Given the description of an element on the screen output the (x, y) to click on. 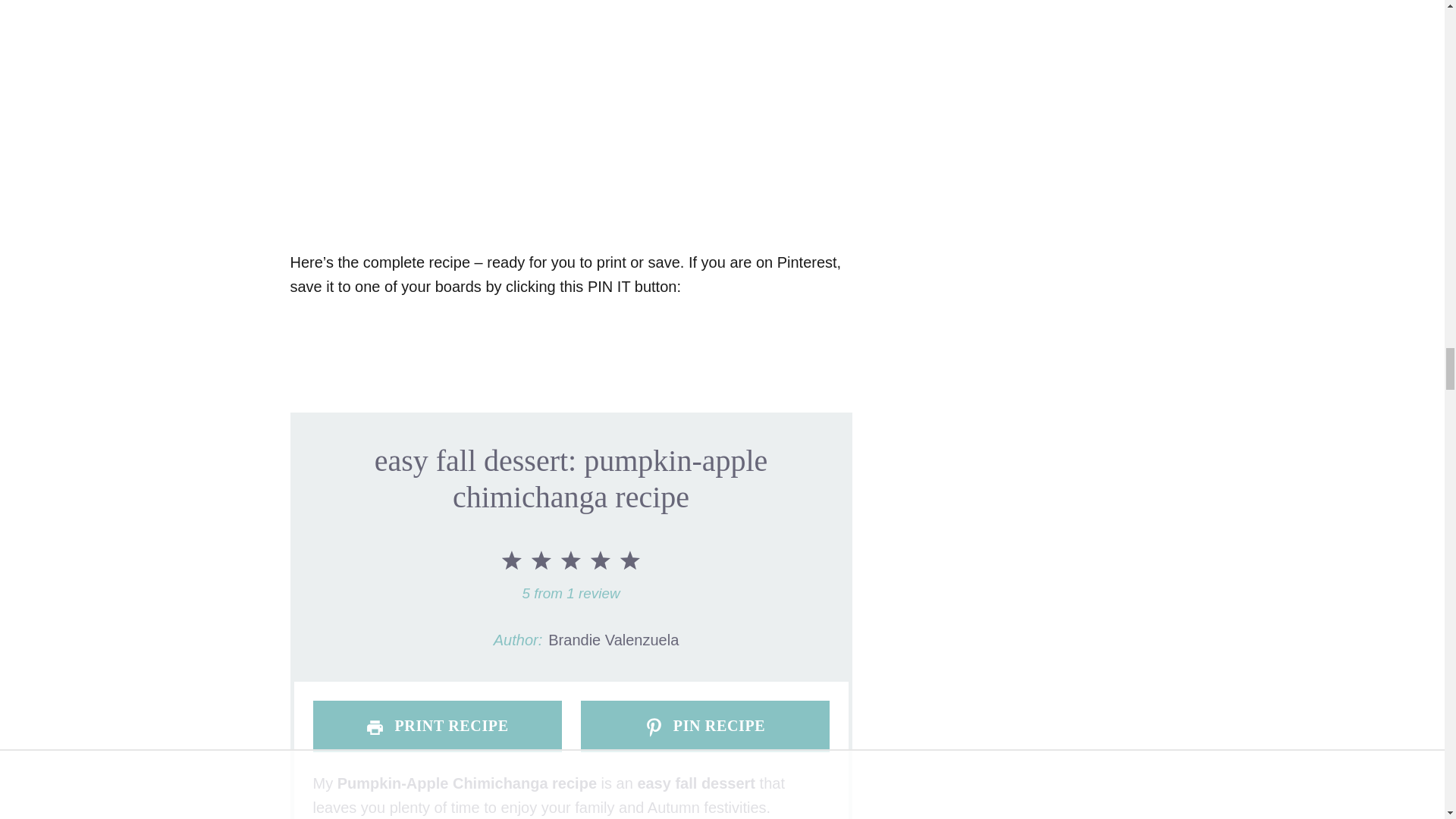
PIN RECIPE (704, 726)
PRINT RECIPE (436, 726)
